Given the description of an element on the screen output the (x, y) to click on. 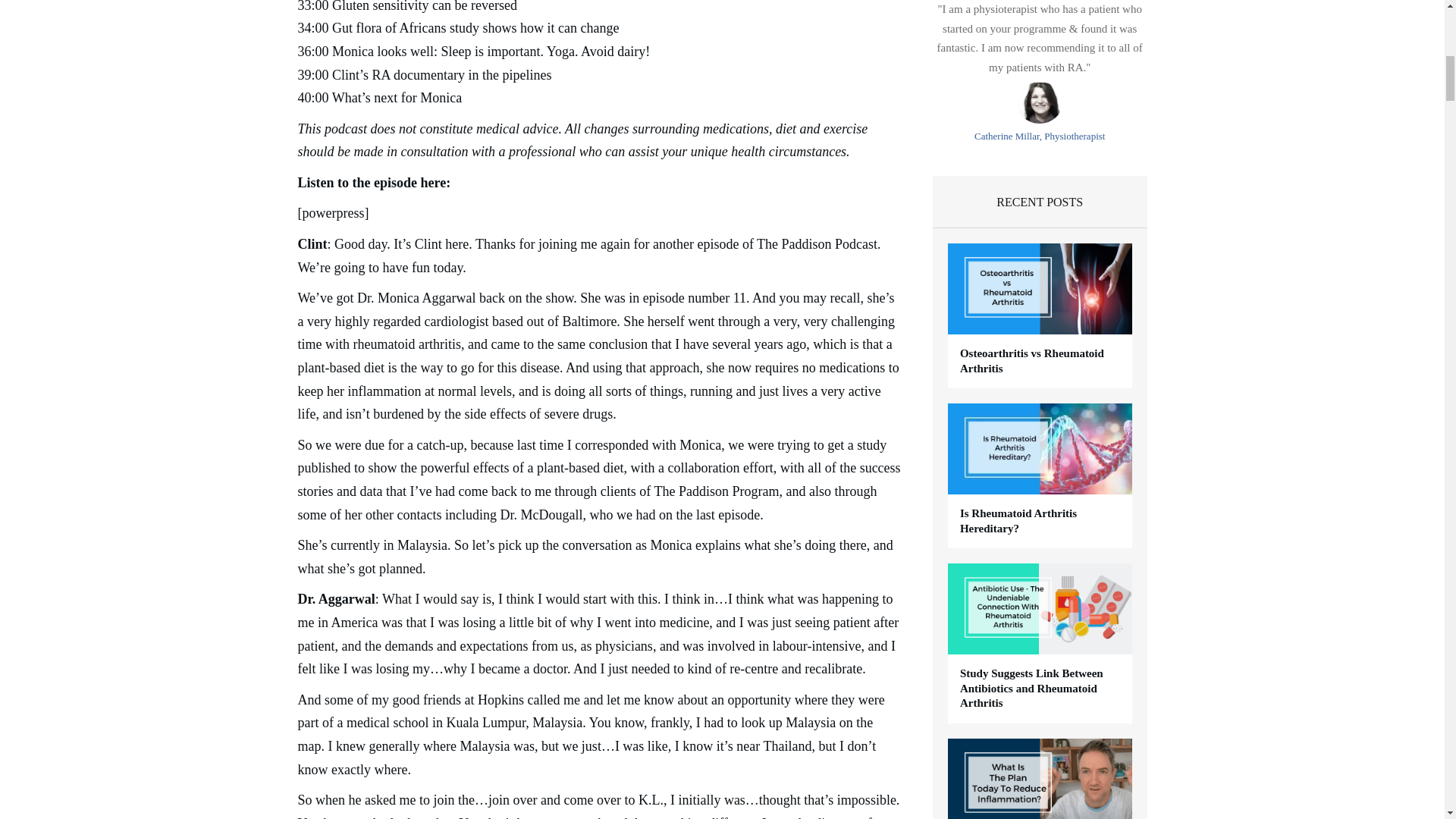
Catherine Millar (1039, 102)
Is Rheumatoid Arthritis Hereditary? (1018, 520)
Is Rheumatoid Arthritis Hereditary? (1018, 520)
Osteoarthritis vs Rheumatoid Arthritis (1031, 360)
